Given the description of an element on the screen output the (x, y) to click on. 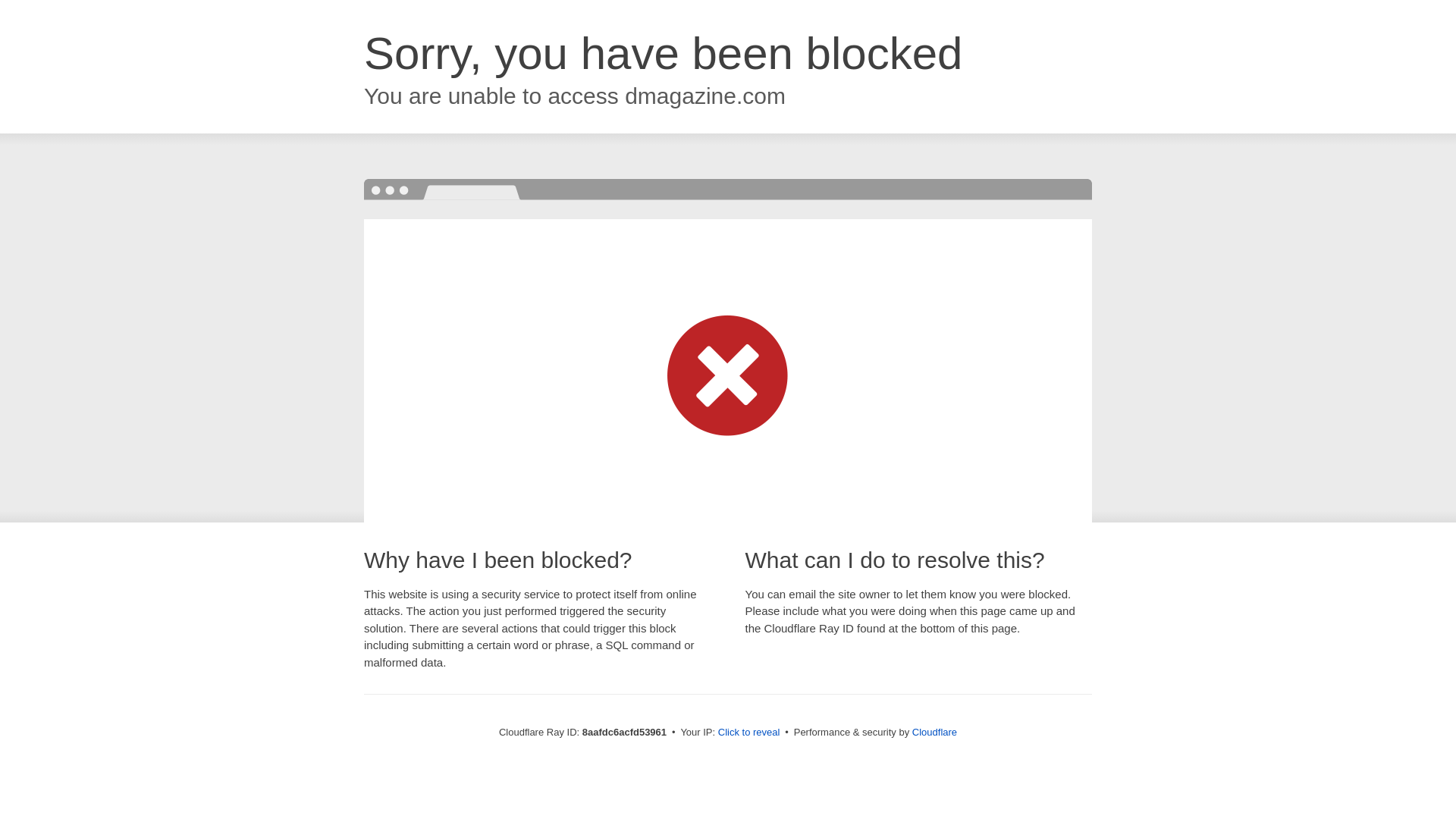
Cloudflare (934, 731)
Click to reveal (748, 732)
